Given the description of an element on the screen output the (x, y) to click on. 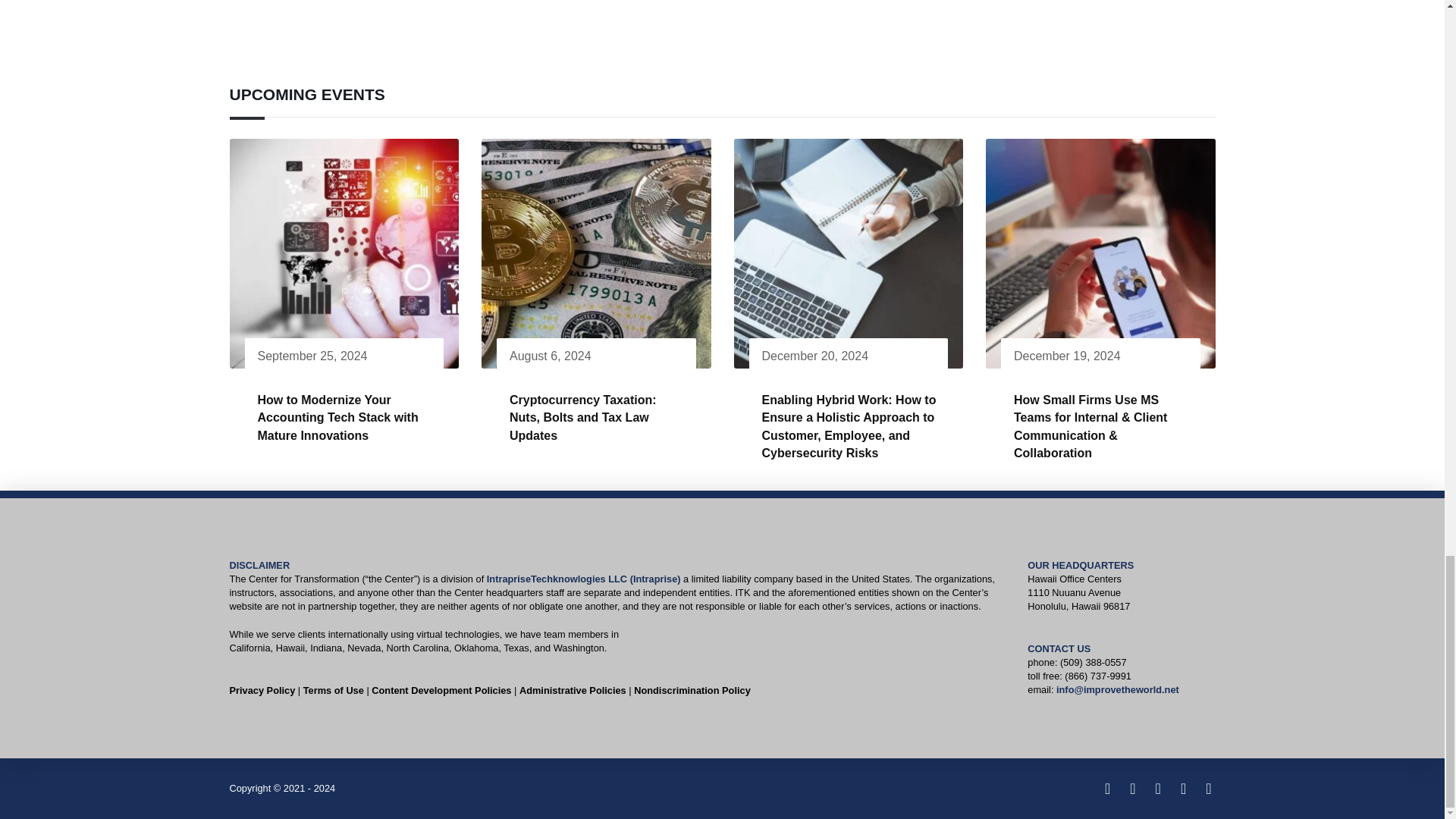
Cryptocurrency Taxation: Nuts, Bolts and Tax Law Updates (582, 417)
Nondiscrimination Policy (692, 690)
Privacy Policy (261, 690)
Administrative Policies (572, 690)
Terms of Use (333, 690)
Content Development Policies (441, 690)
